Given the description of an element on the screen output the (x, y) to click on. 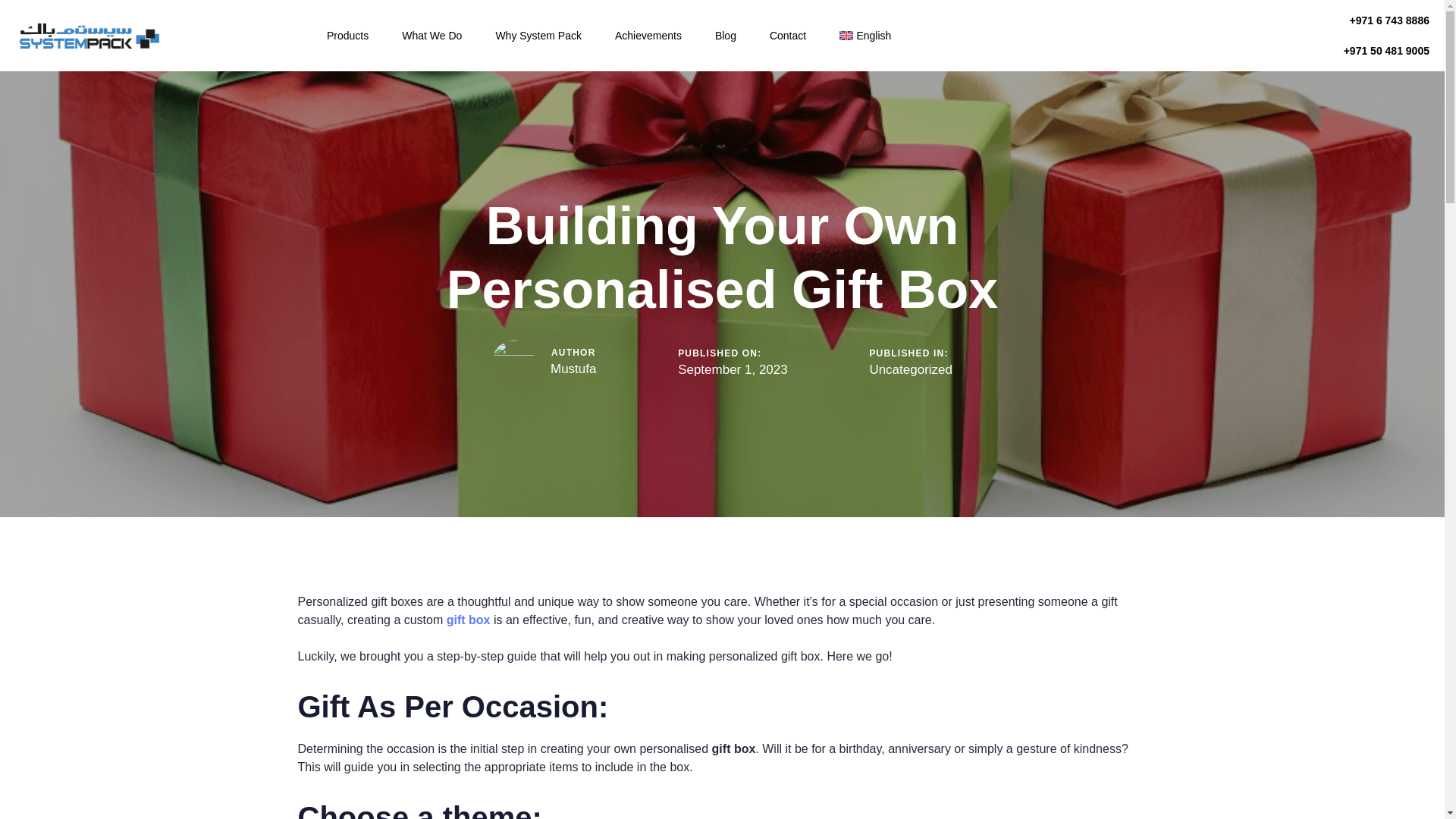
Achievements (648, 35)
Why System Pack (538, 35)
English (864, 35)
What We Do (432, 35)
Contact (787, 35)
Products (347, 35)
Posts by Mustufa (572, 368)
English (864, 35)
